Given the description of an element on the screen output the (x, y) to click on. 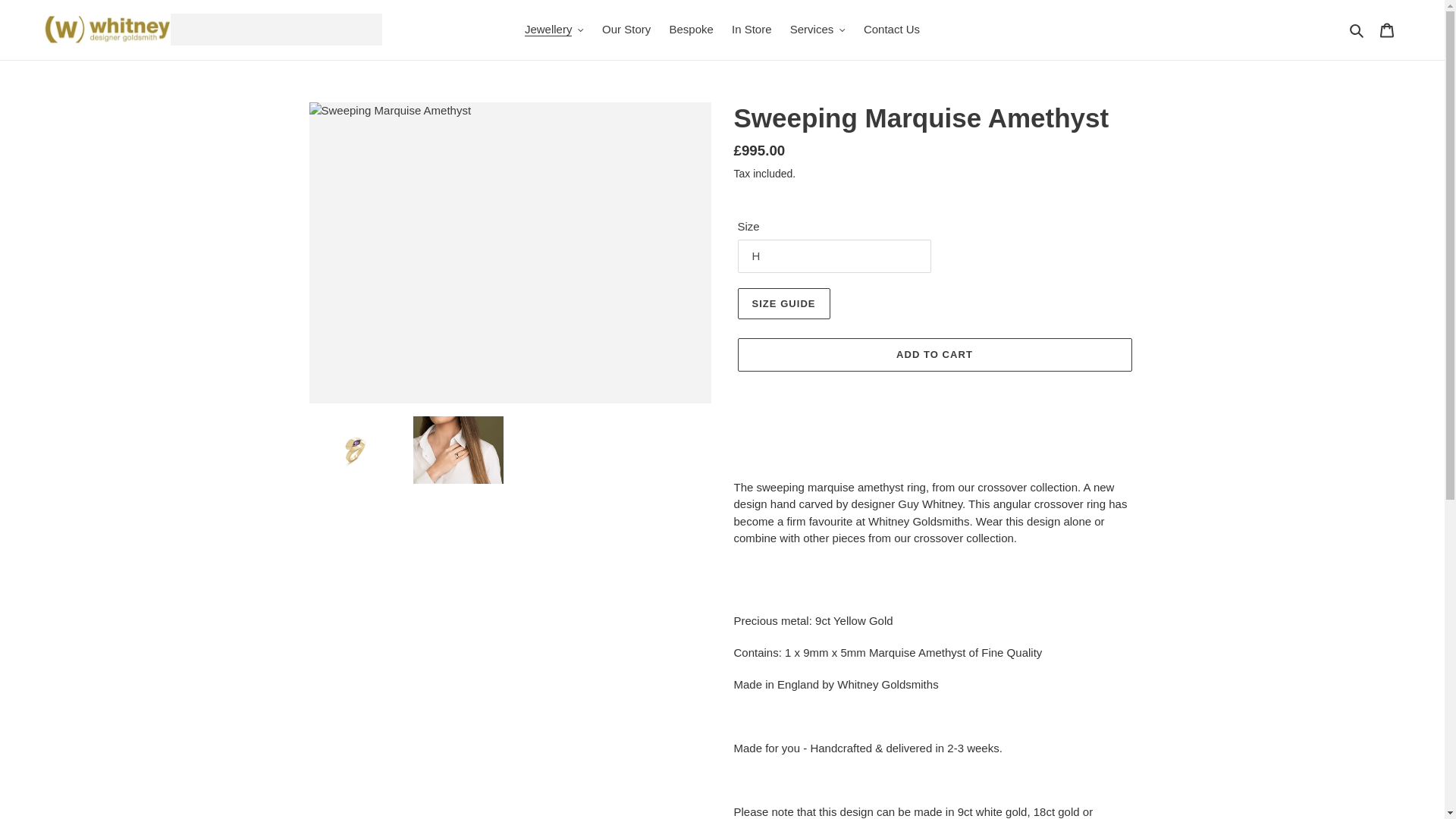
Jewellery (553, 29)
In Store (750, 29)
Our Story (626, 29)
Bespoke (690, 29)
Services (818, 29)
